Given the description of an element on the screen output the (x, y) to click on. 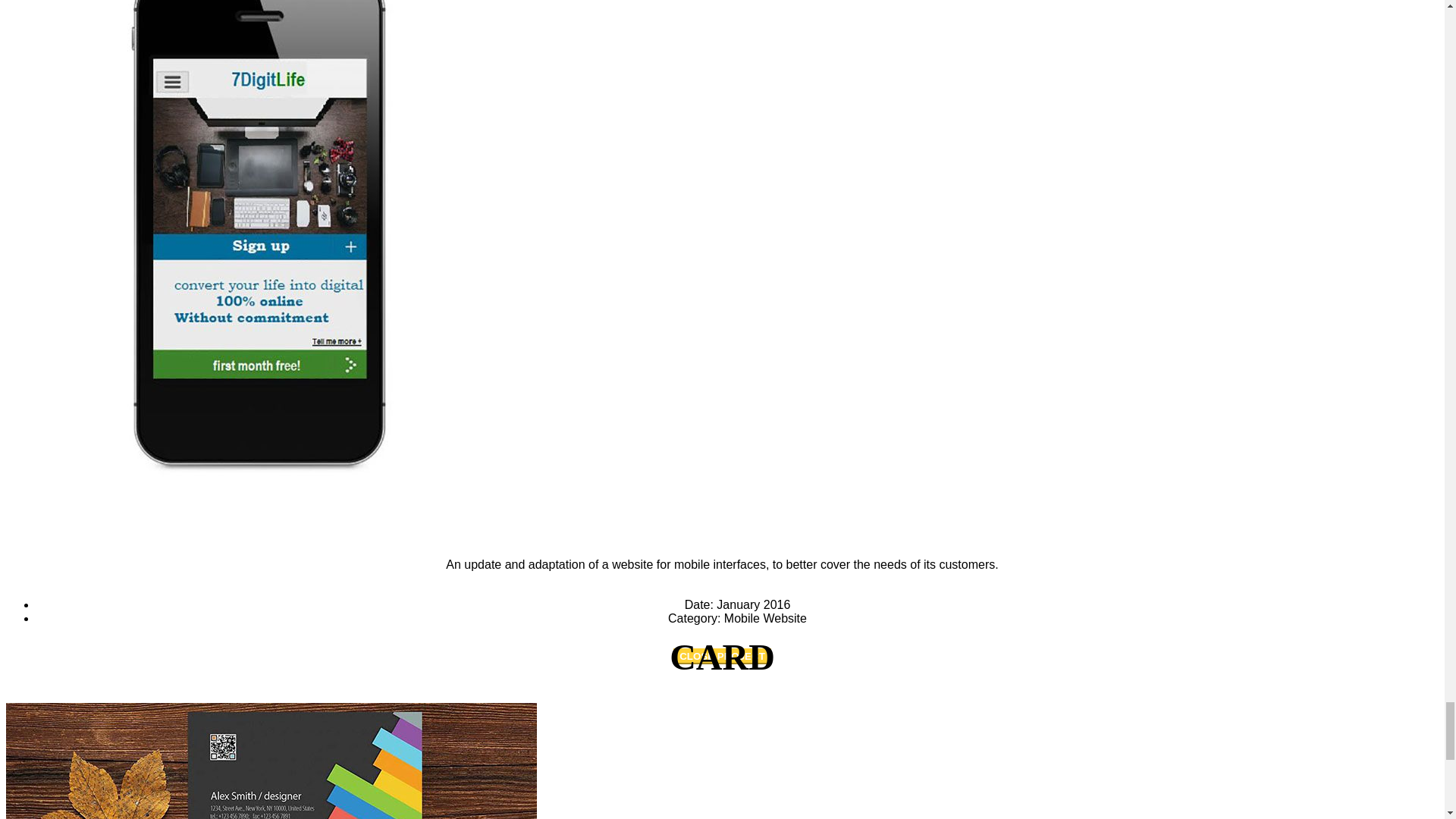
CLOSE PROJECT (721, 656)
